Given the description of an element on the screen output the (x, y) to click on. 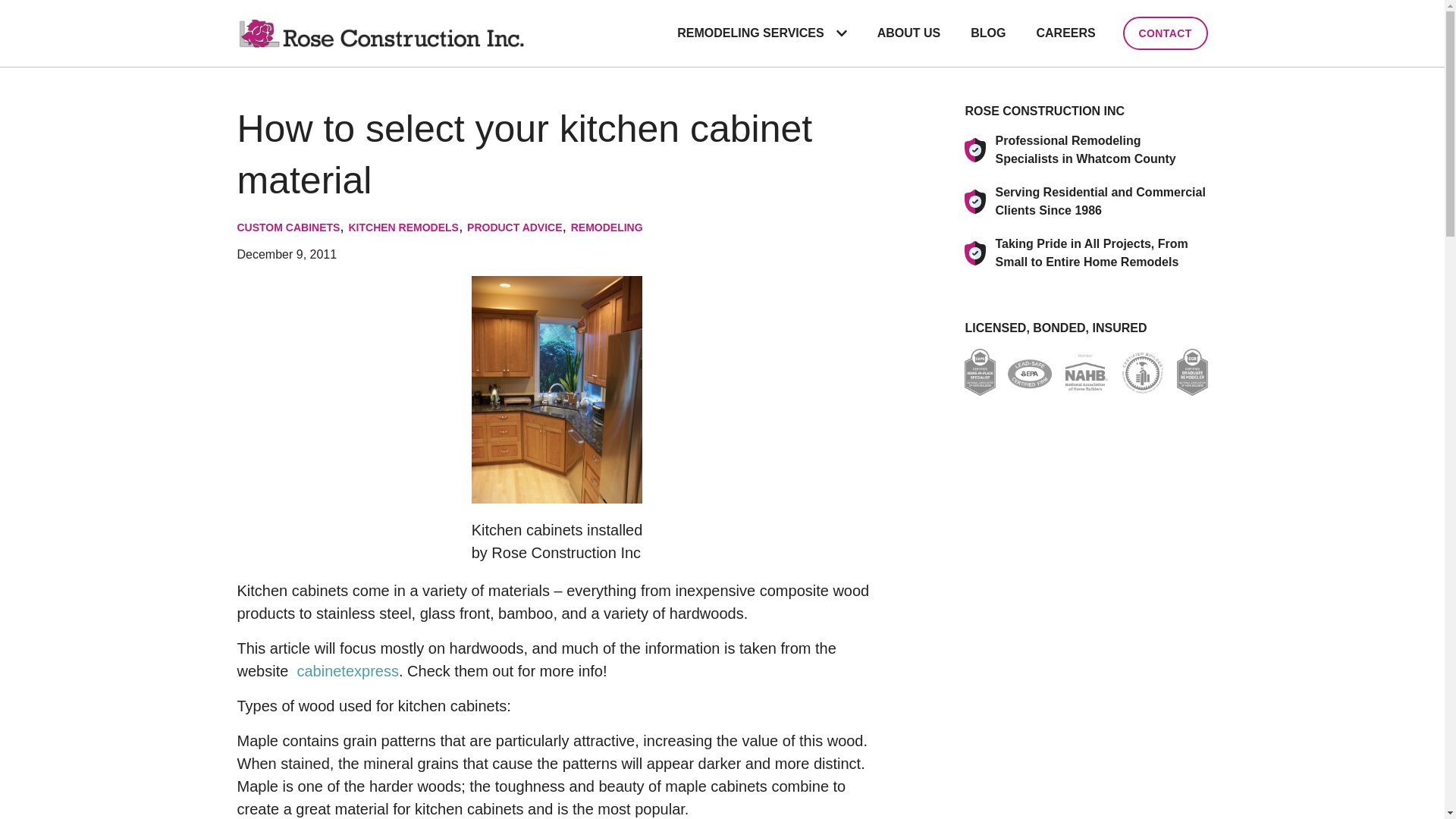
REMODELING SERVICES (743, 33)
REMODELING (606, 227)
ABOUT US (908, 33)
PRODUCT ADVICE (514, 227)
Skip to main content (7, 7)
CONTACT (1165, 32)
CUSTOM CABINETS (287, 227)
CAREERS (1064, 33)
cabinet express wood cabinets (347, 670)
cabinetexpress (347, 670)
BLOG (987, 33)
KITCHEN REMODELS (402, 227)
